Given the description of an element on the screen output the (x, y) to click on. 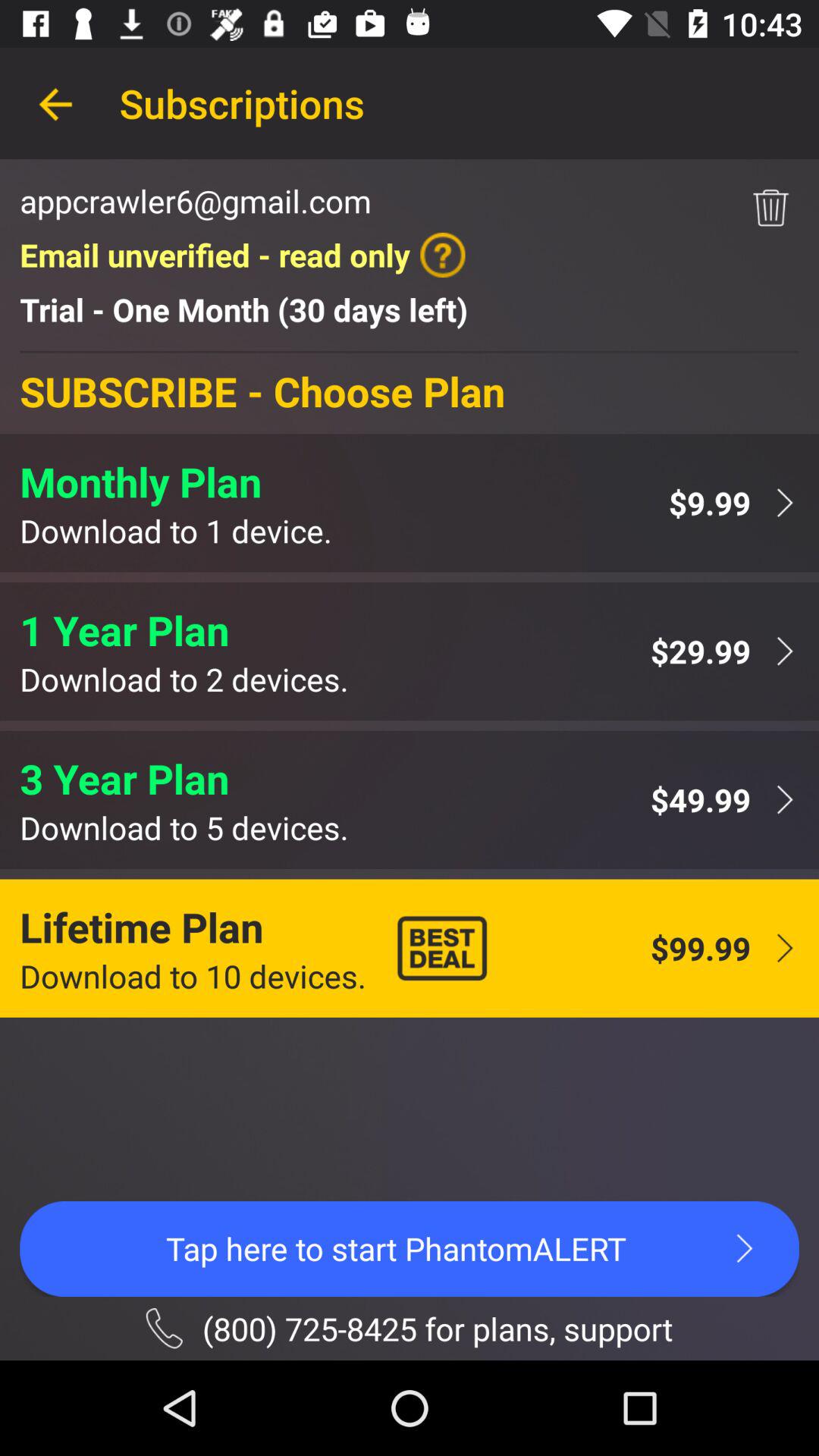
click icon to the right of the email unverified read item (770, 207)
